Given the description of an element on the screen output the (x, y) to click on. 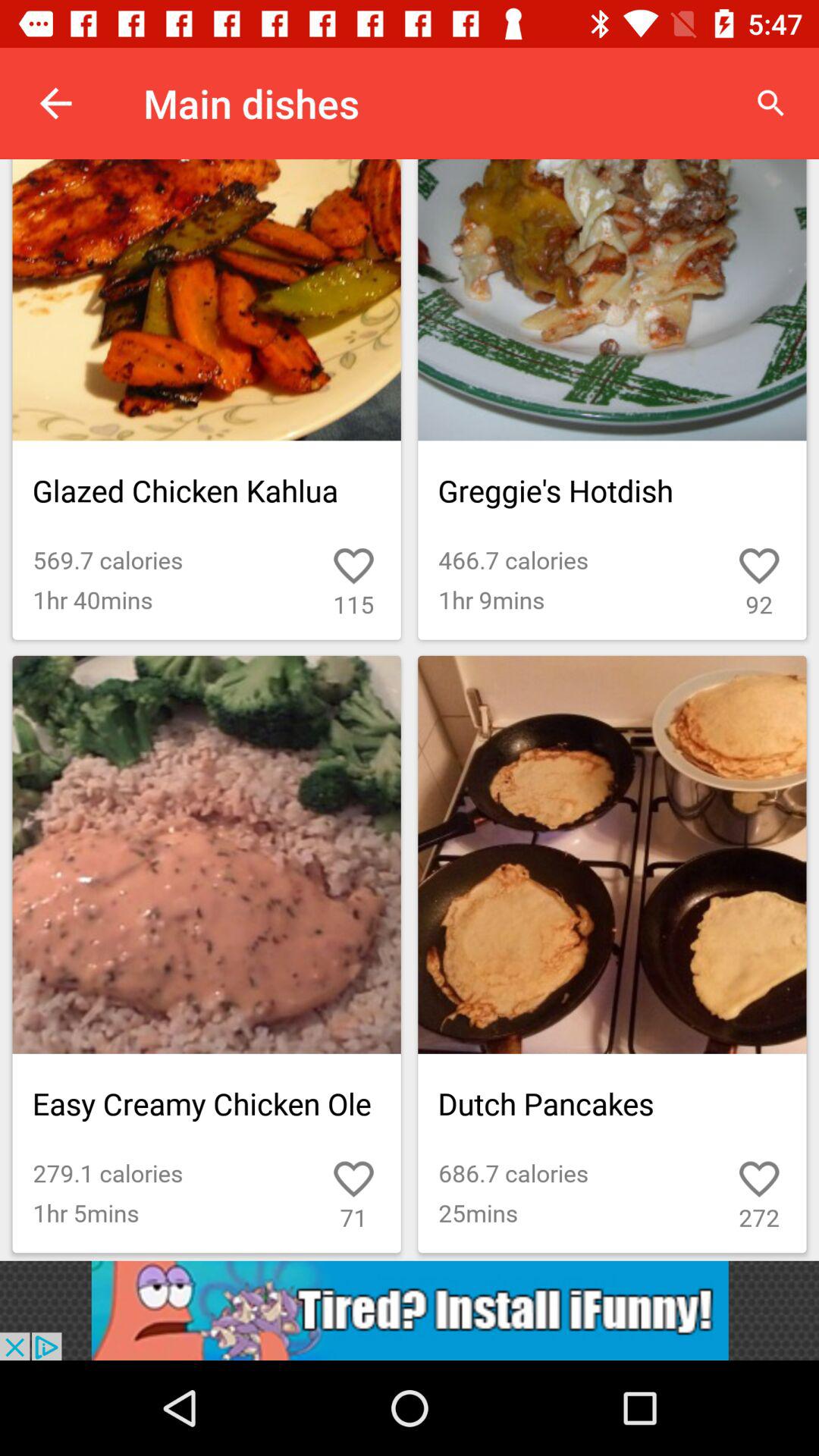
select the text which is above the 5697 calories (206, 490)
click on search button (771, 103)
select the image on the bottom right corner of the web page (611, 954)
select the text below the second image in the first row (612, 490)
click on image which is at bottom left corner (207, 954)
